Given the description of an element on the screen output the (x, y) to click on. 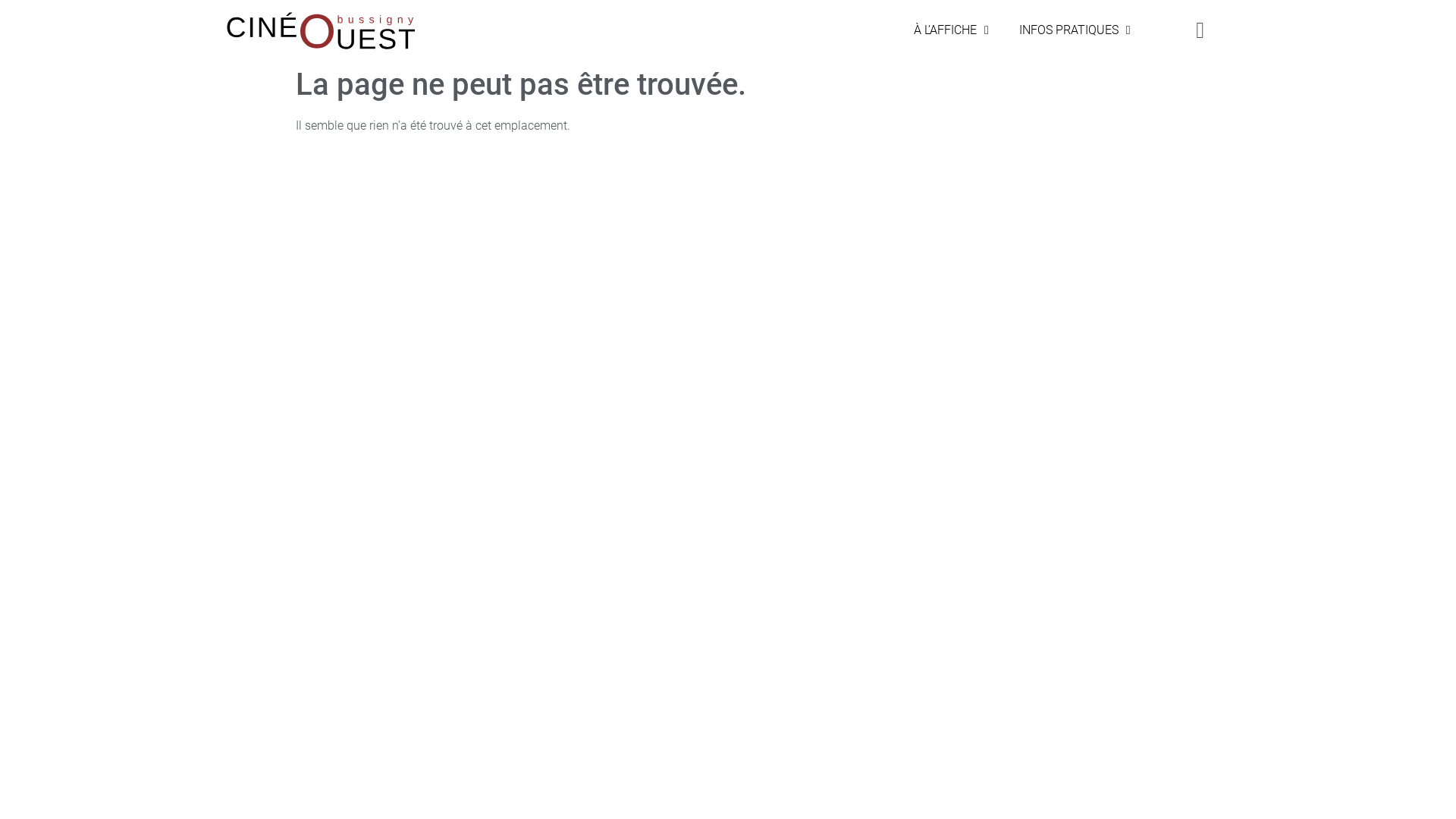
INFOS PRATIQUES Element type: text (1074, 30)
